Given the description of an element on the screen output the (x, y) to click on. 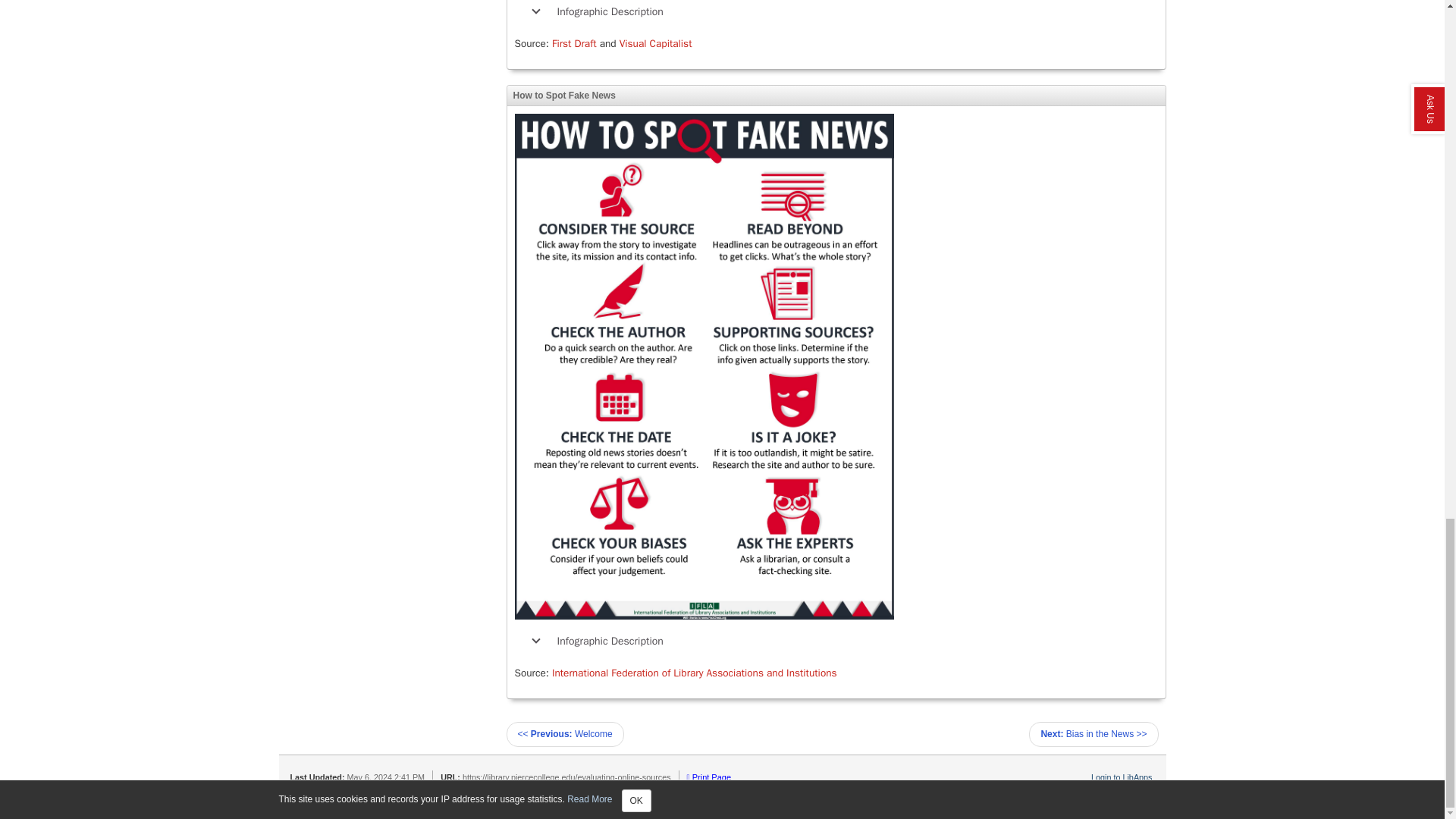
Report a problem (1120, 791)
Print Page (708, 777)
websites (603, 802)
General Research (364, 802)
Visual Capitalist (656, 42)
Login to LibApps (1120, 777)
First Draft (573, 42)
research (564, 802)
critical thinking (465, 802)
